Given the description of an element on the screen output the (x, y) to click on. 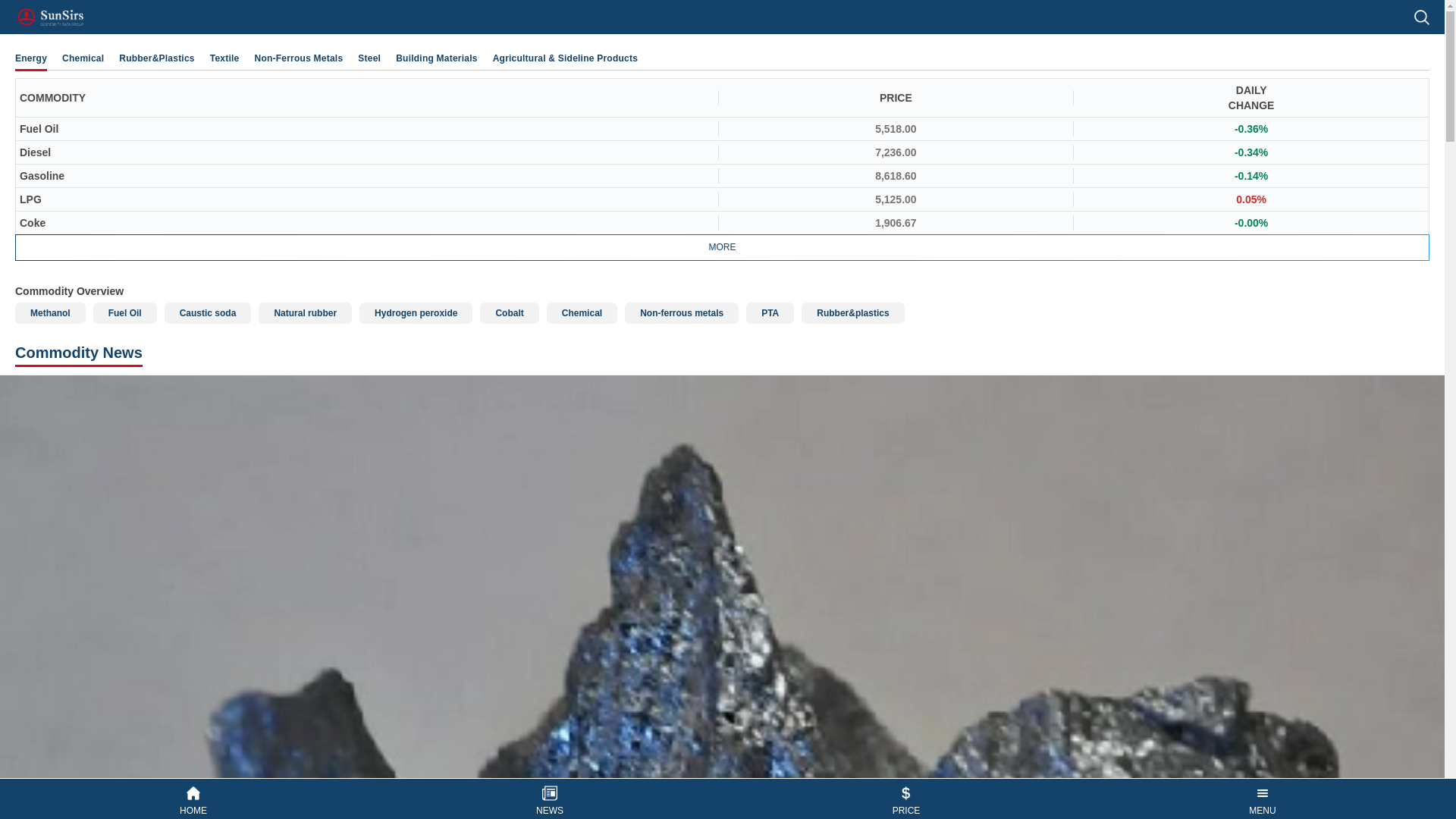
Fuel Oil (125, 312)
Chemical (82, 58)
Energy (30, 58)
MORE (722, 247)
Natural rubber (305, 312)
Textile (224, 58)
Chemical (582, 312)
Methanol (49, 312)
Steel (369, 58)
PTA (769, 312)
Hydrogen peroxide (415, 312)
Cobalt (509, 312)
Caustic soda (207, 312)
Building Materials (436, 58)
Non-Ferrous Metals (298, 58)
